Given the description of an element on the screen output the (x, y) to click on. 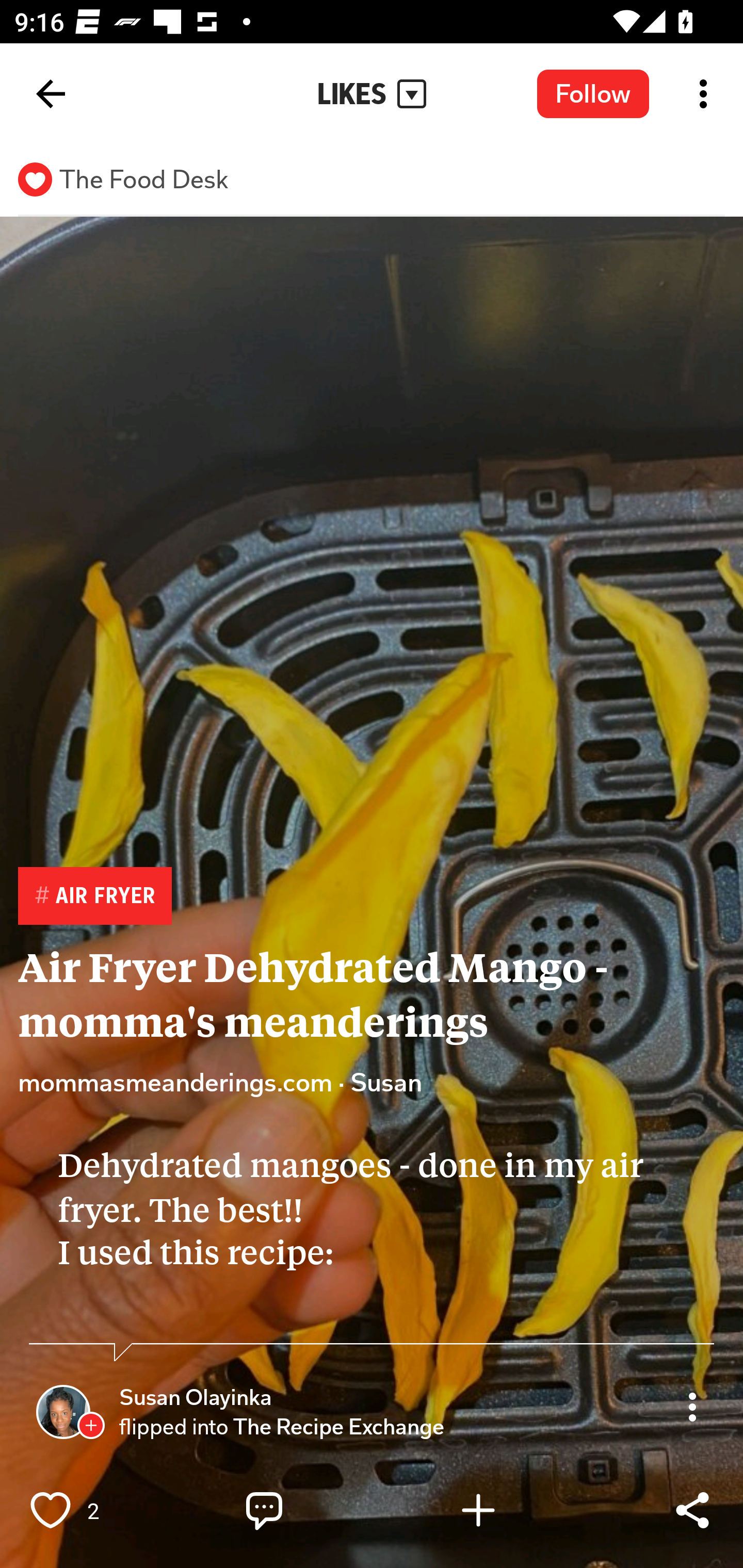
Back (50, 93)
LIKES (371, 93)
More options (706, 93)
Follow (593, 92)
# AIR FRYER (94, 896)
More (692, 1406)
More (692, 1406)
Susan Olayinka (194, 1397)
flipped into The Recipe Exchange (281, 1426)
Like 5 (93, 1509)
Write a comment… (307, 1509)
Flip into Magazine 7 (521, 1509)
Share (692, 1509)
